Given the description of an element on the screen output the (x, y) to click on. 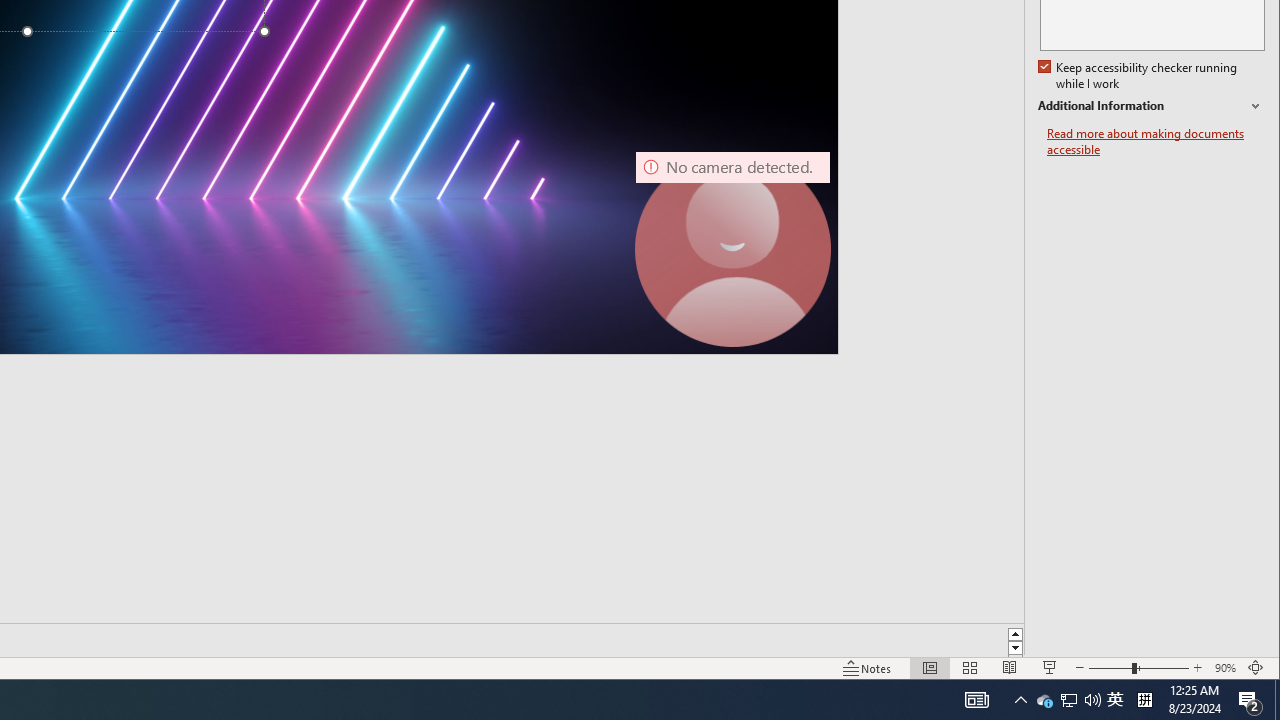
Read more about making documents accessible (1155, 142)
